Given the description of an element on the screen output the (x, y) to click on. 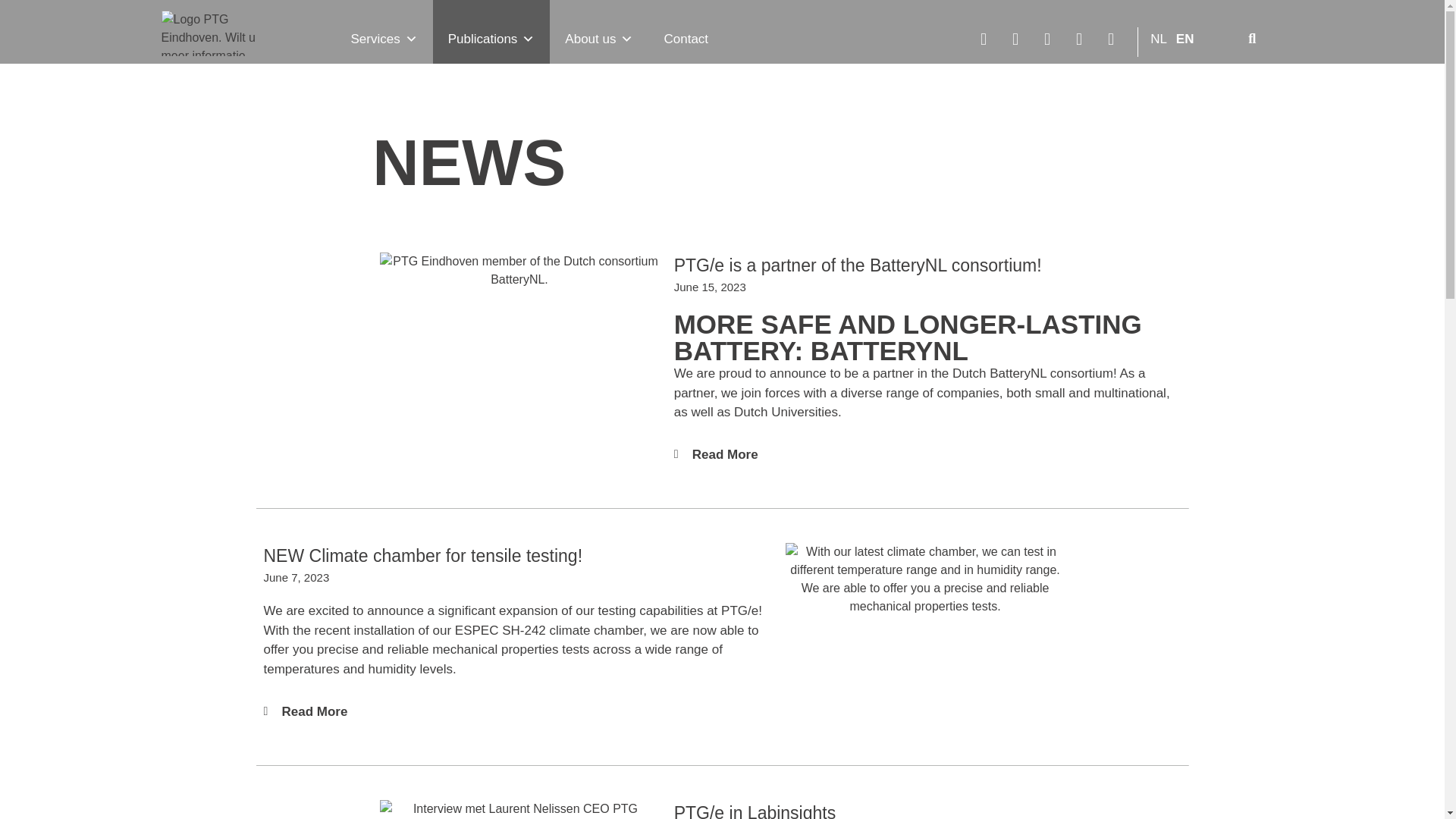
Contact (685, 31)
Publications (491, 31)
Read More (725, 454)
Read More (314, 711)
Services (383, 31)
About us (598, 31)
